Given the description of an element on the screen output the (x, y) to click on. 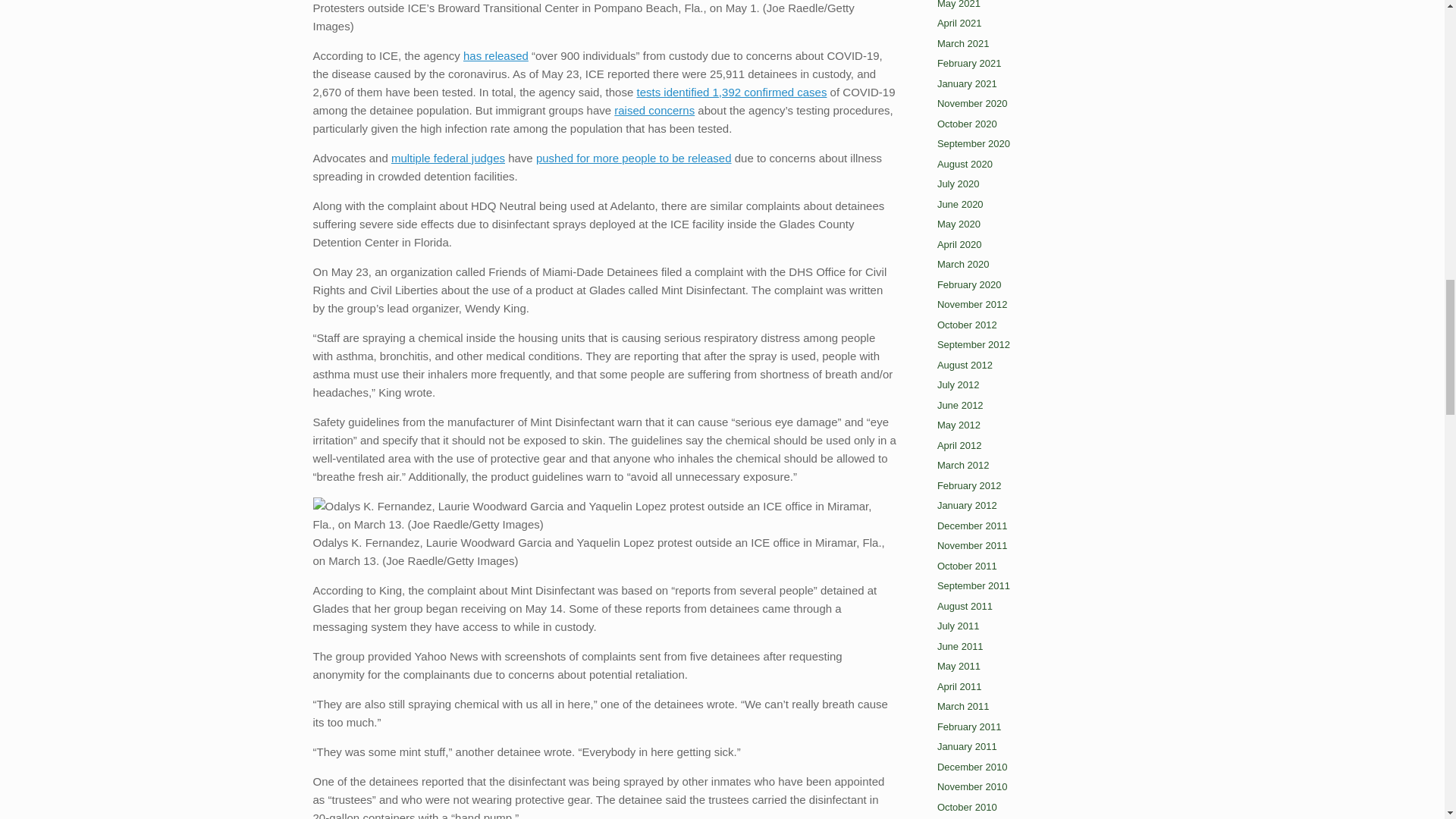
tests identified 1,392 confirmed cases (731, 91)
pushed for more people to be released (633, 157)
multiple federal judges (448, 157)
raised concerns (654, 110)
has released (495, 55)
